Given the description of an element on the screen output the (x, y) to click on. 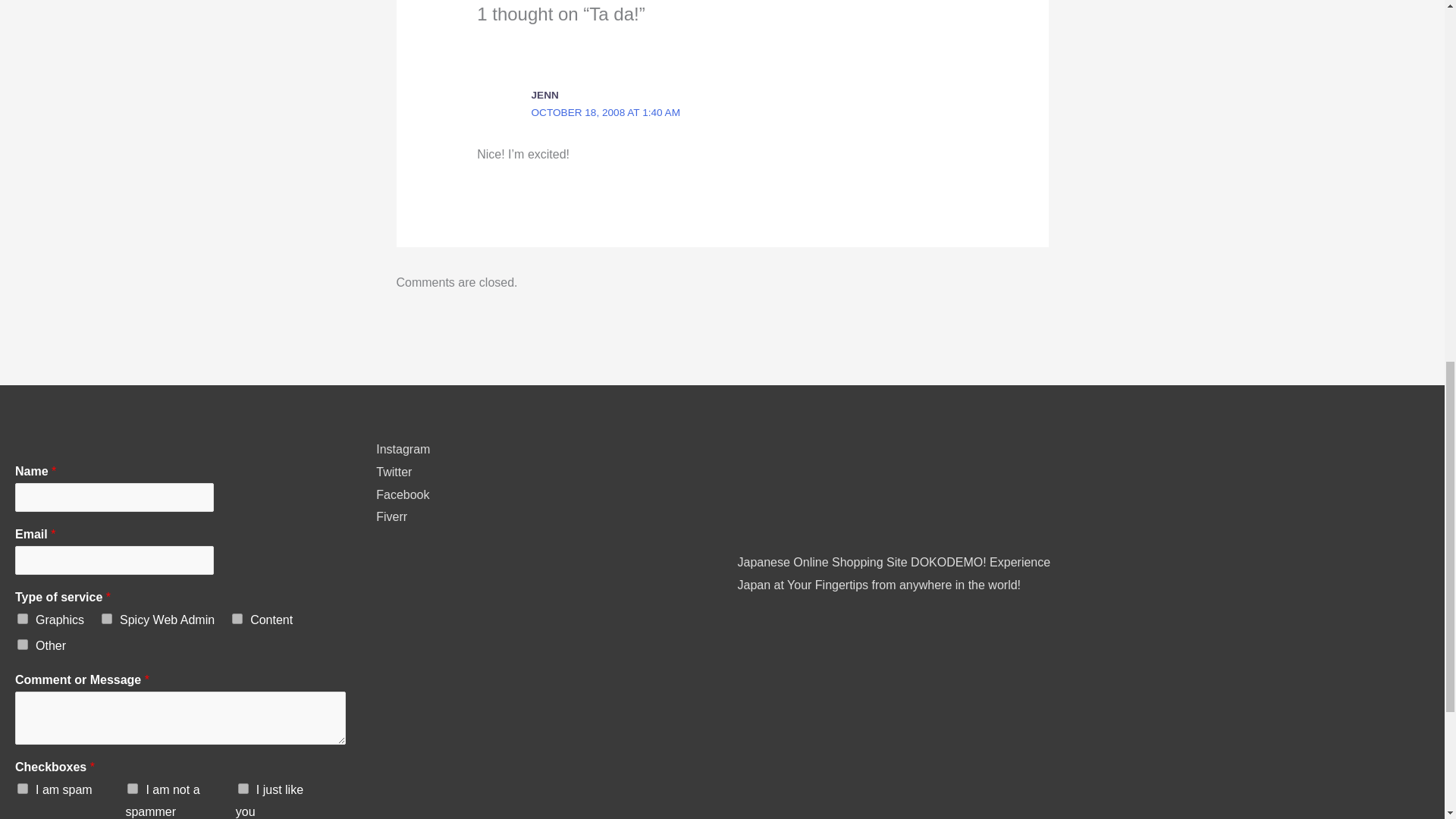
Facebook (402, 494)
I am spam (22, 787)
Twitter (393, 472)
I am not a spammer (133, 787)
Content (237, 618)
Spicy Web Admin (106, 618)
Instagram (402, 449)
Fiverr (391, 516)
Other (22, 644)
Graphics (22, 618)
OCTOBER 18, 2008 AT 1:40 AM (605, 112)
I just like you (243, 787)
